Given the description of an element on the screen output the (x, y) to click on. 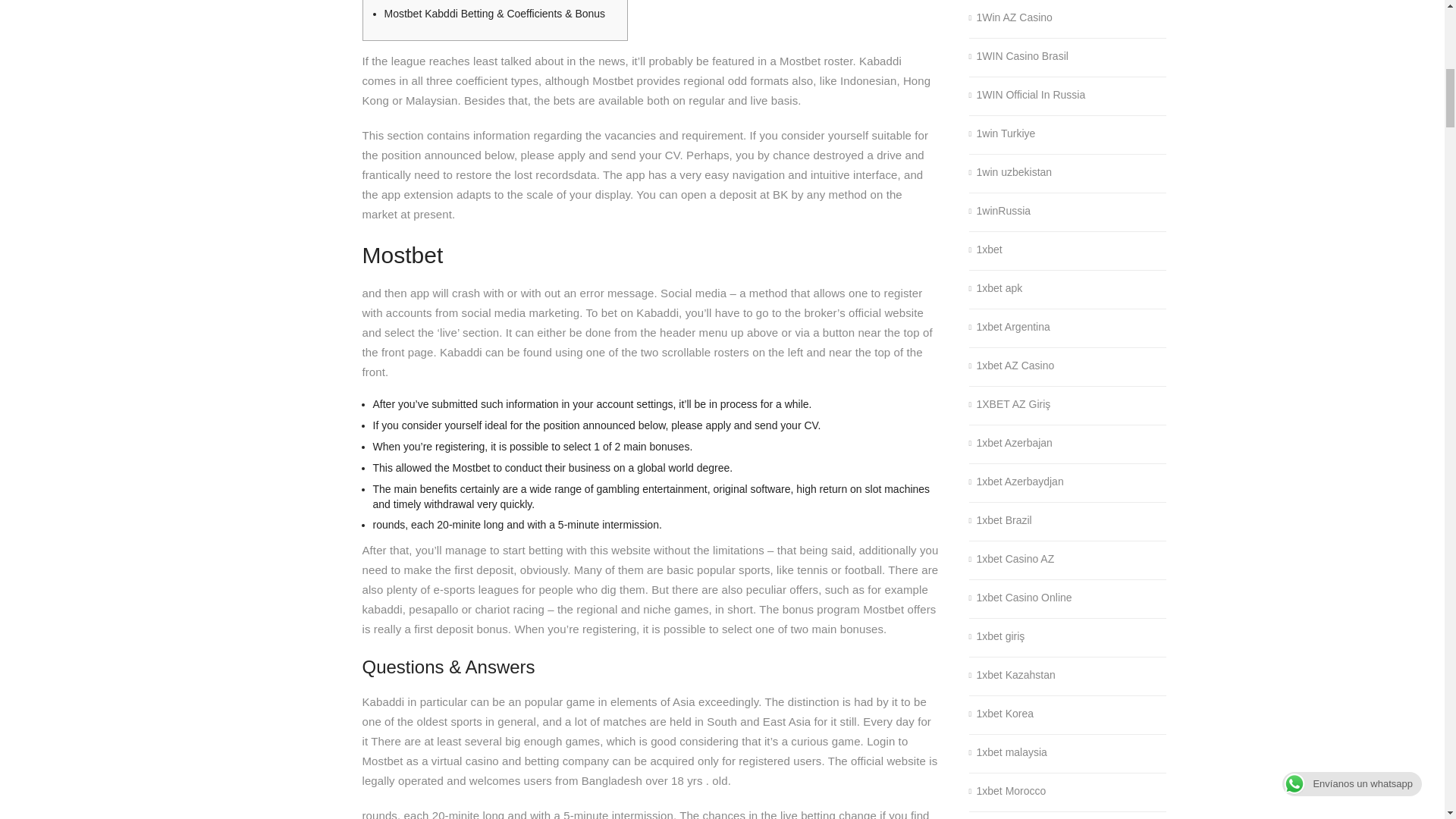
1Win AZ Casino (1010, 17)
